Given the description of an element on the screen output the (x, y) to click on. 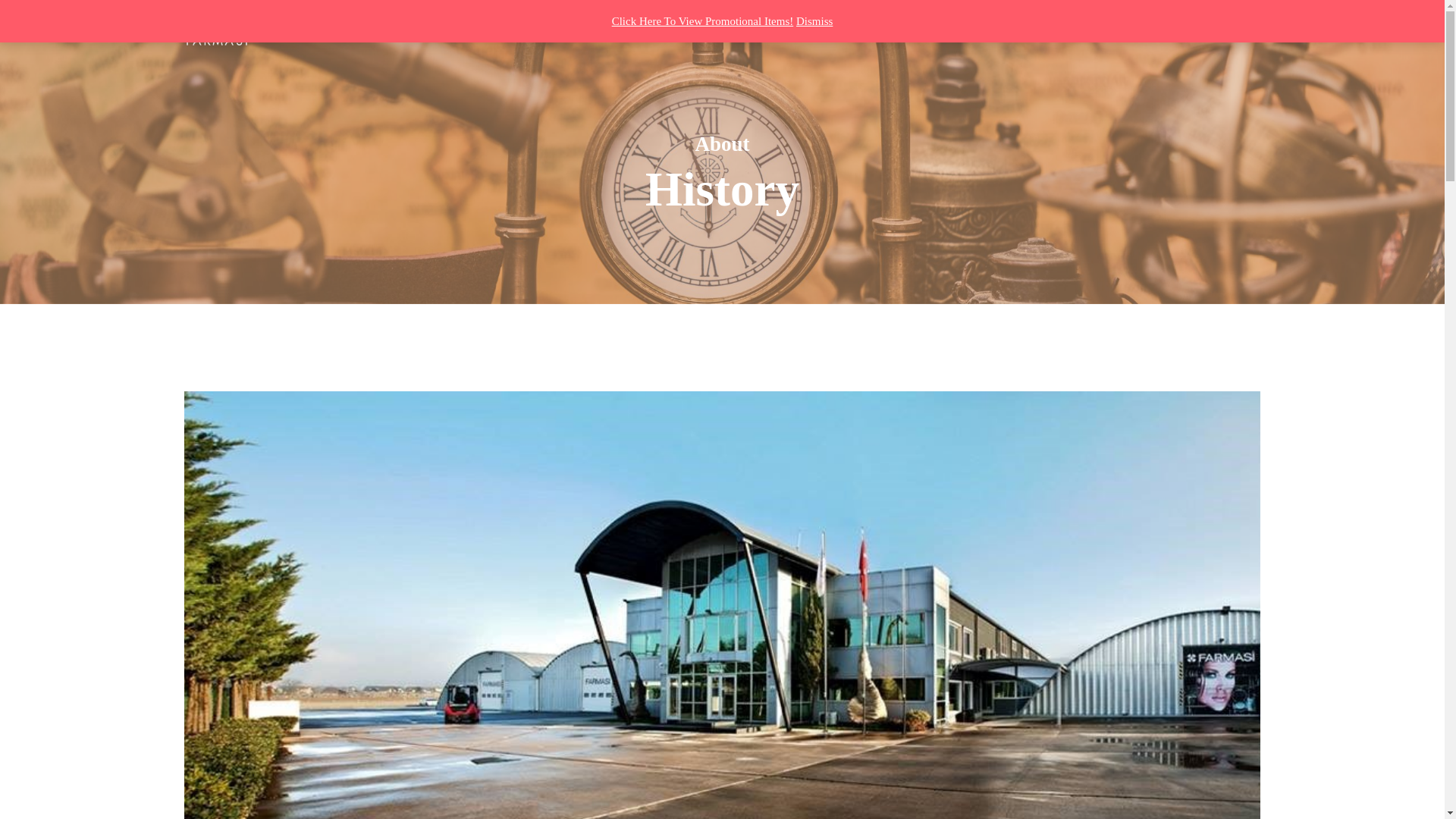
CATALOG (512, 32)
PRODUCTS (422, 32)
BEAUTY INFLUENCER (632, 32)
